Given the description of an element on the screen output the (x, y) to click on. 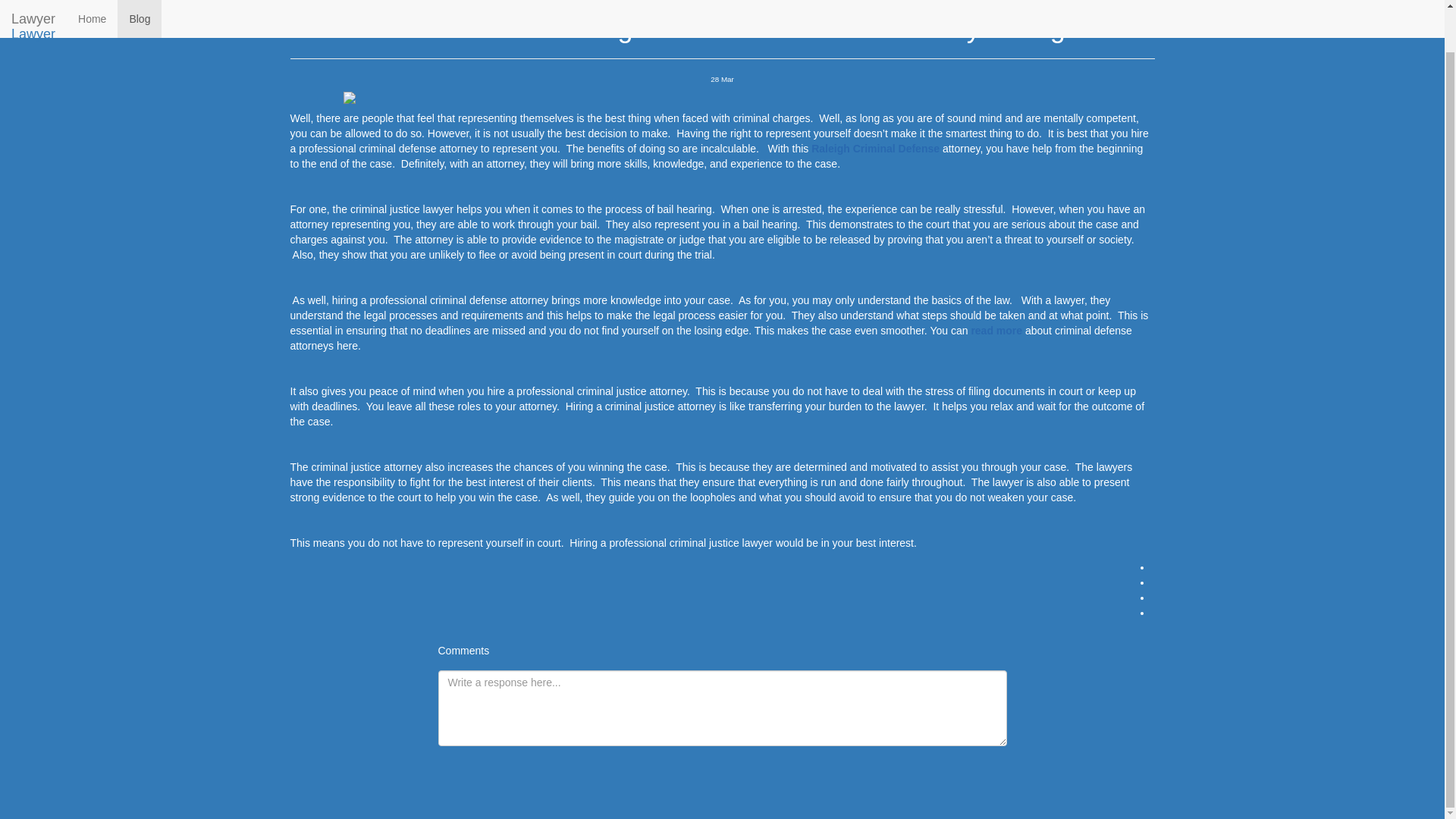
Raleigh Criminal Defense (874, 148)
Lawyer (33, 4)
read more (996, 330)
